Given the description of an element on the screen output the (x, y) to click on. 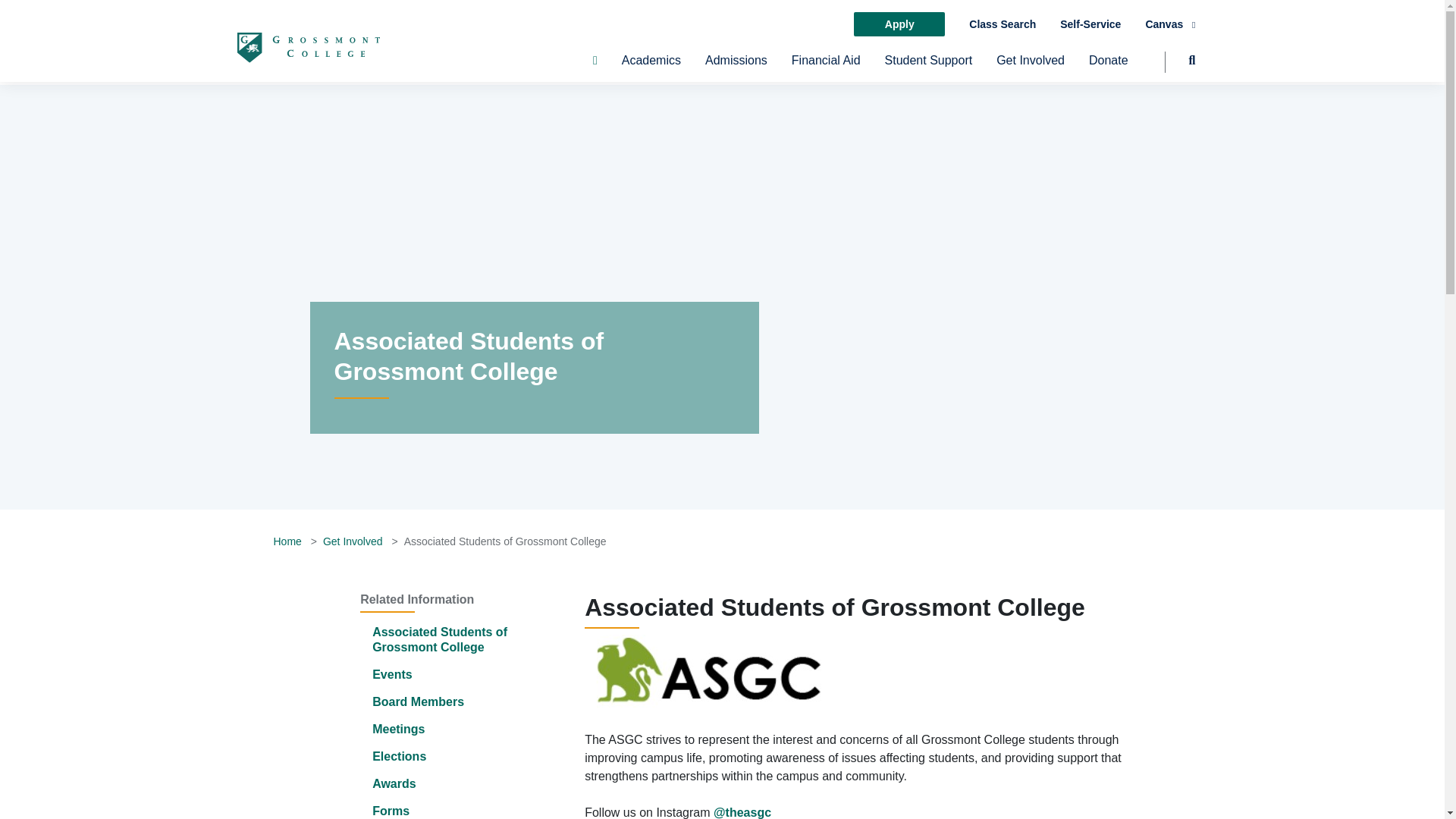
Associated Students of Grossmont College (439, 639)
Financial Aid (826, 66)
Get Involved (1029, 66)
Student Support (928, 66)
Self-Service (1090, 23)
Awards (394, 783)
Self-Service (1090, 23)
grossmont.edu (306, 47)
Class Search (1002, 23)
Admissions (735, 66)
